Given the description of an element on the screen output the (x, y) to click on. 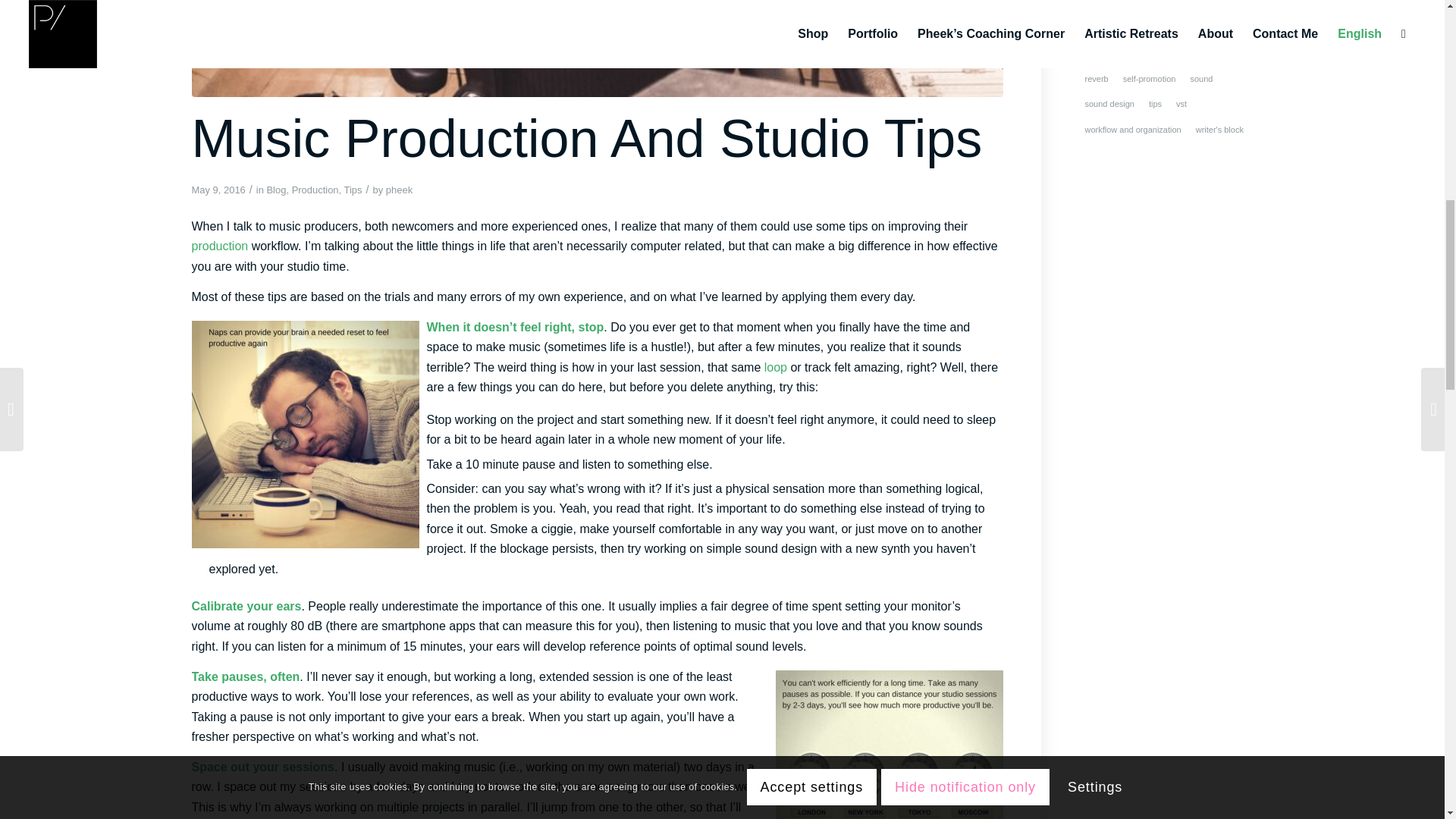
Production (315, 189)
loop (775, 367)
tips-min (596, 48)
Posts by pheek (398, 189)
Blog (275, 189)
Tips (352, 189)
production (218, 245)
pheek (398, 189)
